Given the description of an element on the screen output the (x, y) to click on. 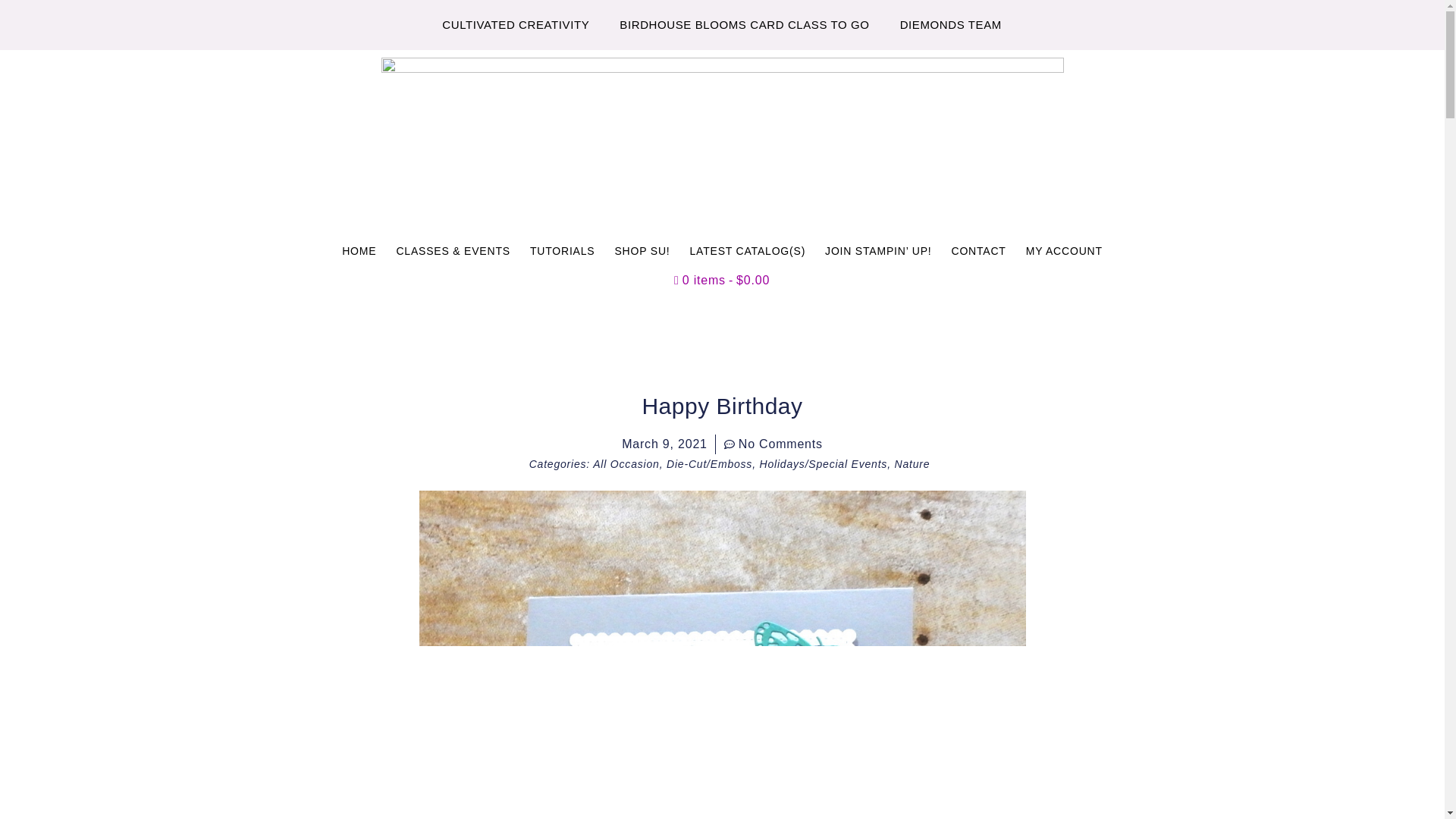
All Occasion (625, 463)
Nature (912, 463)
BIRDHOUSE BLOOMS CARD CLASS TO GO (743, 24)
SHOP SU! (641, 250)
MY ACCOUNT (1064, 250)
HOME (358, 250)
Start shopping (721, 280)
TUTORIALS (562, 250)
DIEMONDS TEAM (950, 24)
CONTACT (977, 250)
CULTIVATED CREATIVITY (515, 24)
March 9, 2021 (664, 444)
No Comments (772, 444)
